Given the description of an element on the screen output the (x, y) to click on. 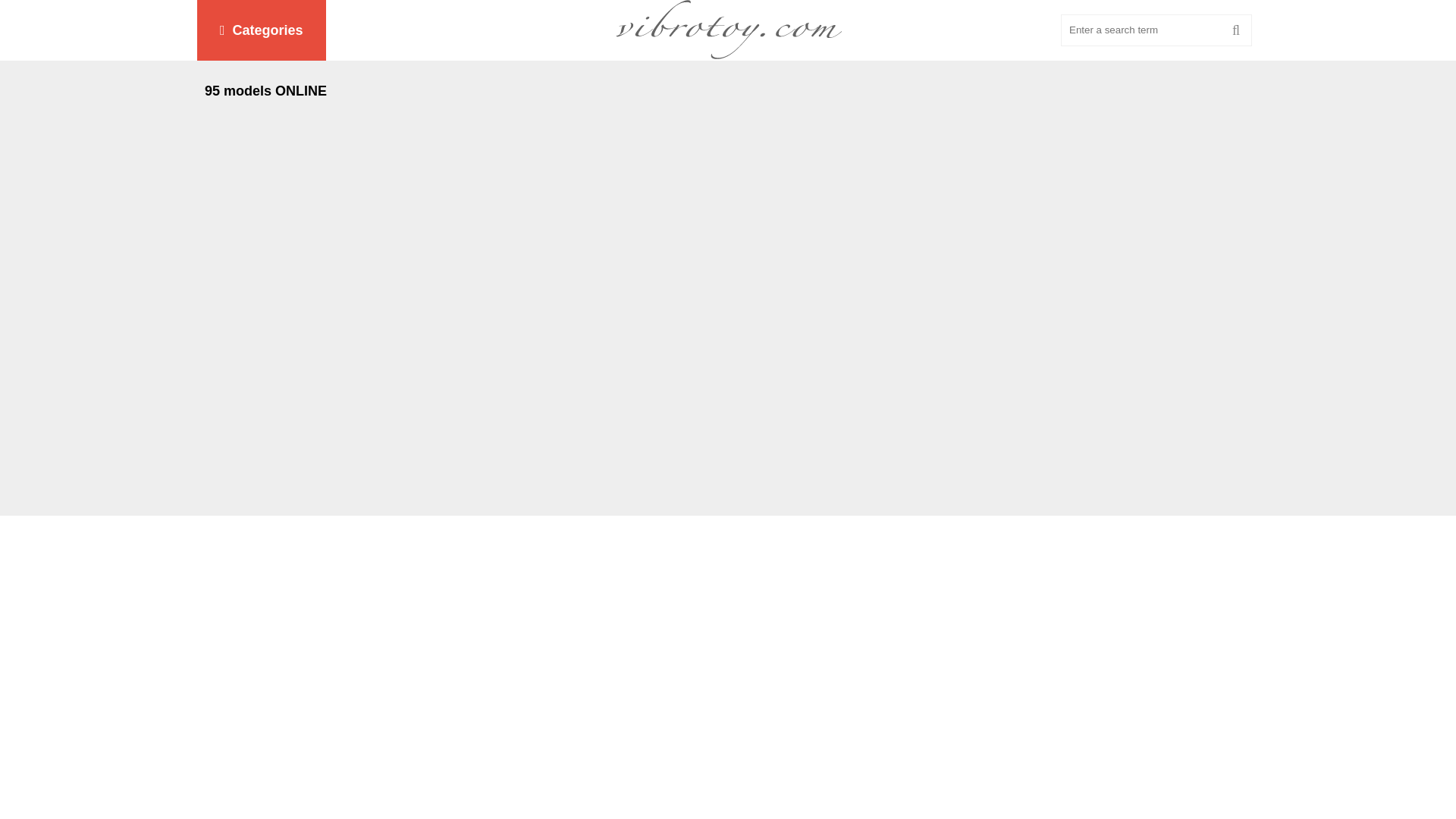
To the main (727, 30)
